Given the description of an element on the screen output the (x, y) to click on. 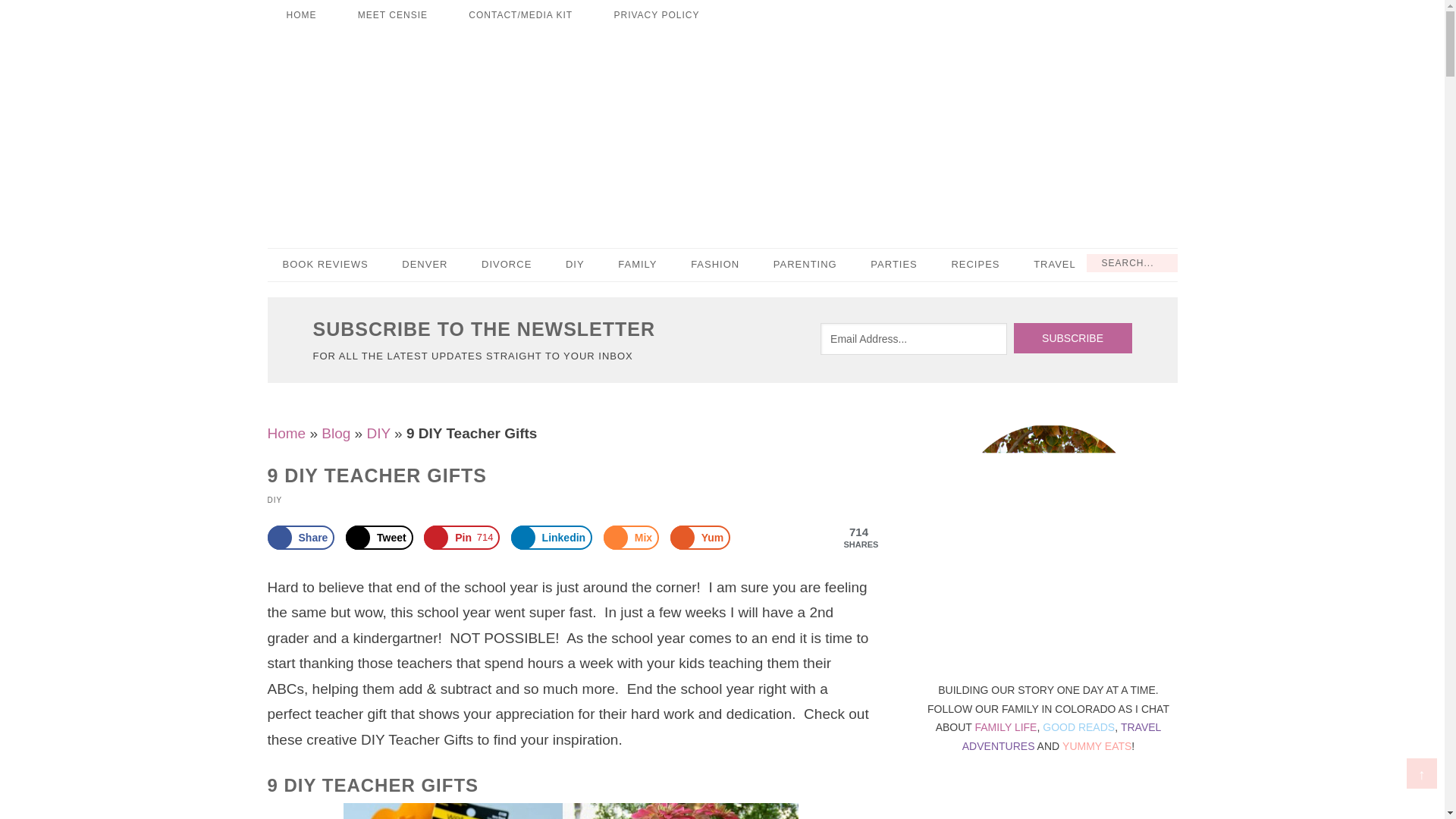
RECIPES (975, 264)
PARENTING (804, 264)
Save to Pinterest (461, 537)
DIY (378, 433)
BOOK REVIEWS (324, 264)
Share on X (379, 537)
FASHION (714, 264)
Share on Yummly (699, 537)
DIY (574, 264)
HOME (300, 15)
DENVER (425, 264)
BUILDING OUR STORY (722, 130)
Blog (335, 433)
MEET CENSIE (392, 15)
PRIVACY POLICY (655, 15)
